Given the description of an element on the screen output the (x, y) to click on. 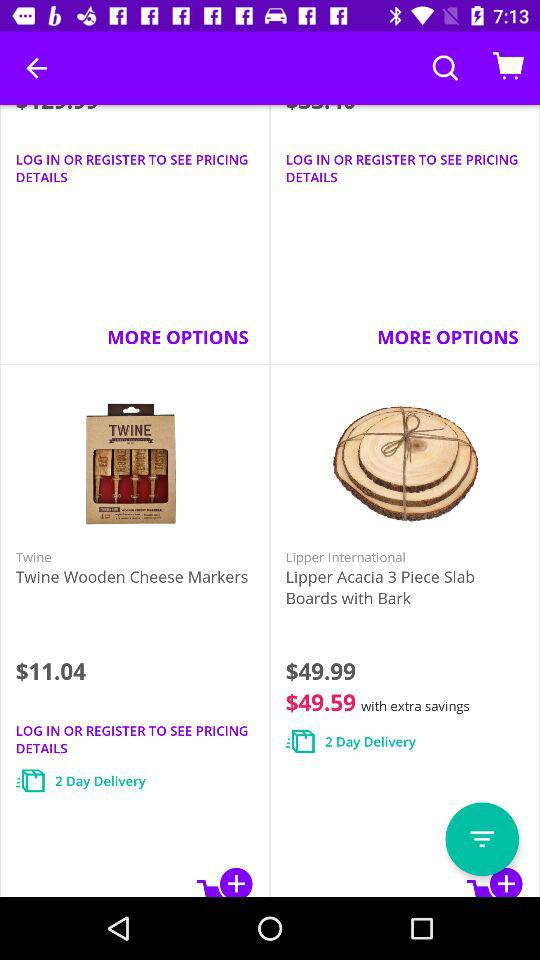
tap the icon to the left of the $33.40 item (36, 68)
